Given the description of an element on the screen output the (x, y) to click on. 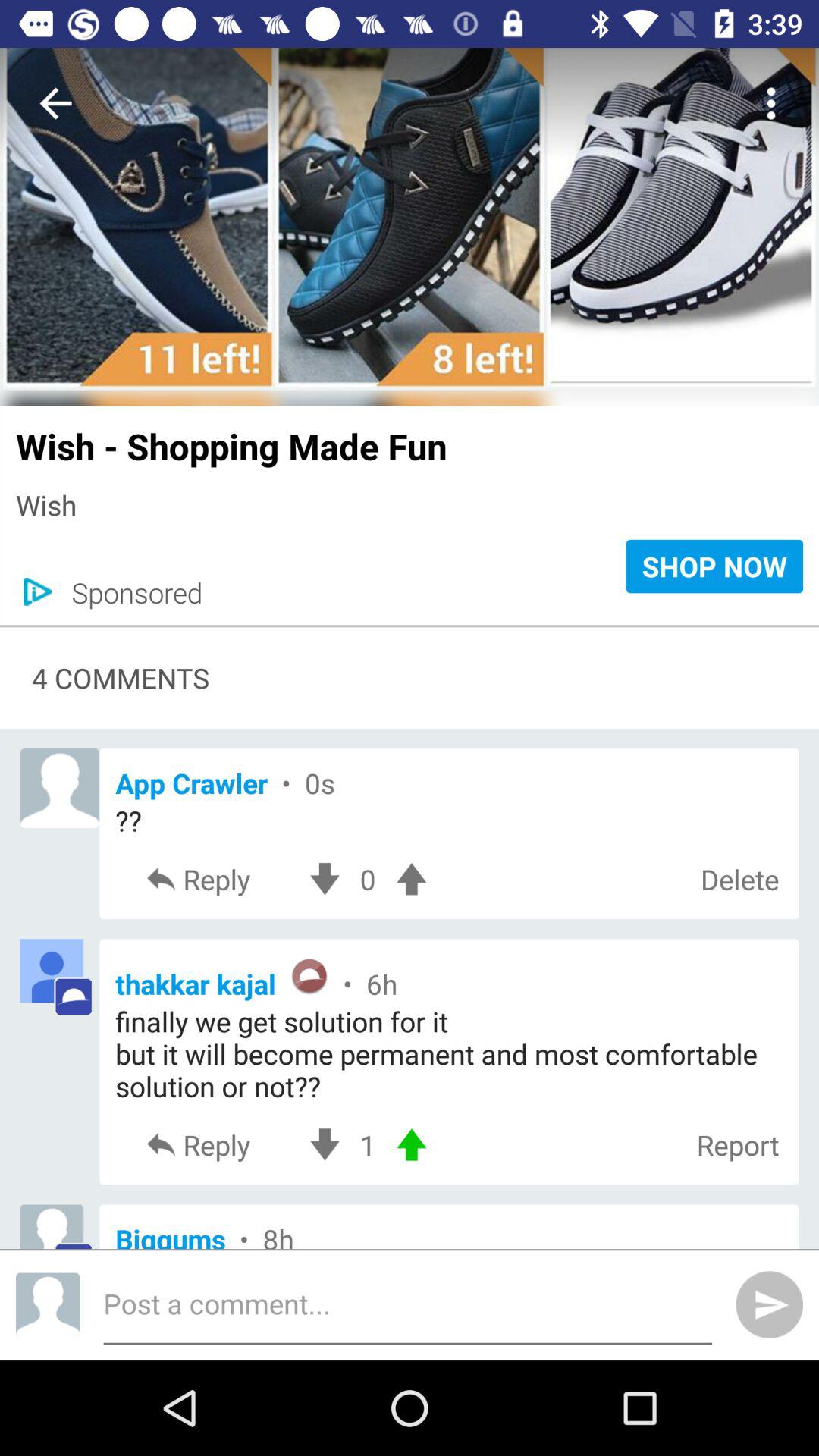
open icon above the wish shopping made icon (409, 398)
